Given the description of an element on the screen output the (x, y) to click on. 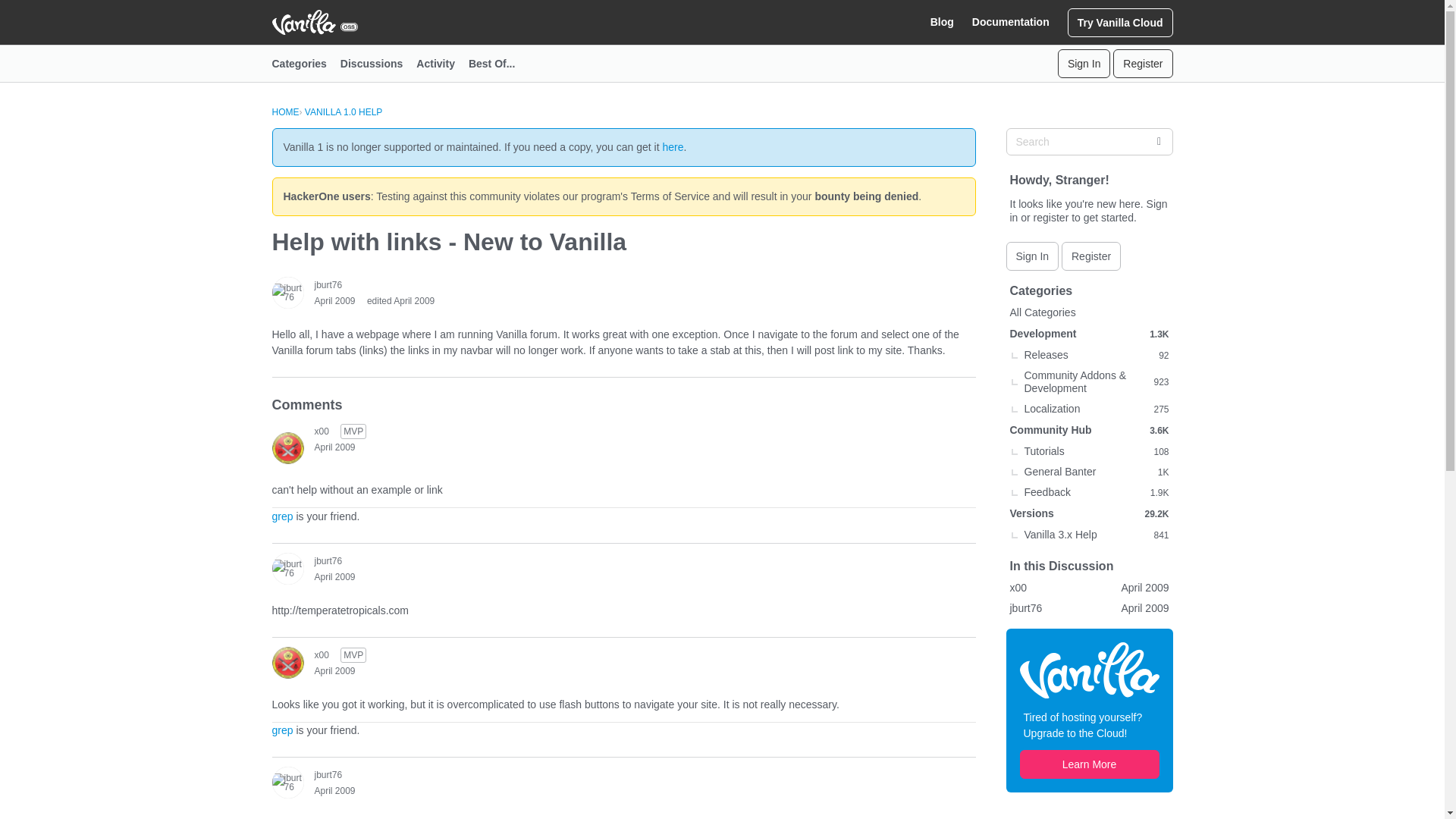
jburt76 (286, 292)
Try Vanilla Cloud (1120, 21)
Sign In (1084, 63)
April 2009 (334, 576)
Most Valuable Poster (353, 654)
x00 (321, 431)
April 27, 2009 11:44AM (334, 790)
April 27, 2009 9:46AM (334, 576)
Documentation (1011, 22)
Activity (442, 63)
